Given the description of an element on the screen output the (x, y) to click on. 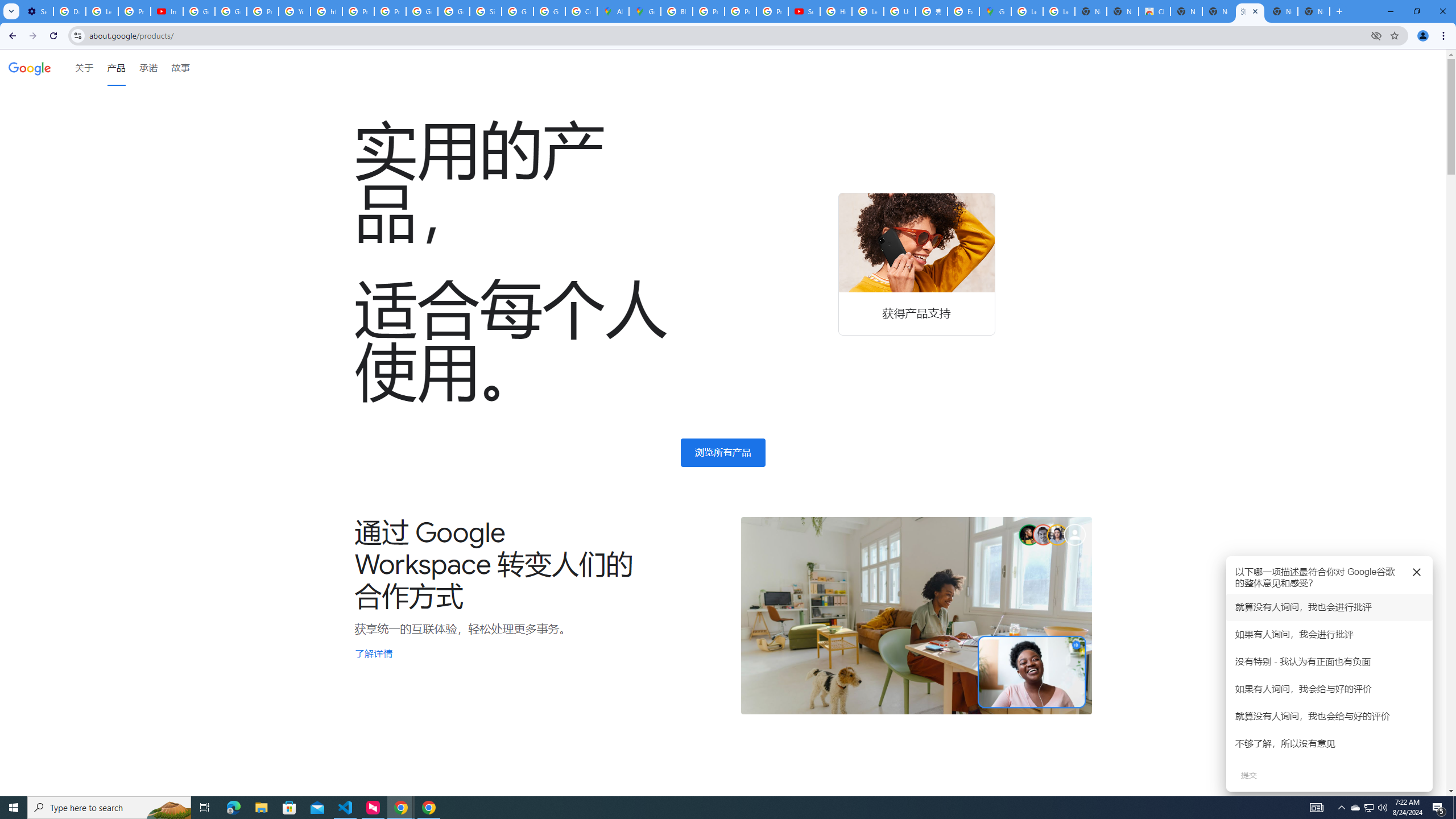
Privacy Help Center - Policies Help (740, 11)
Sign in - Google Accounts (485, 11)
Google Maps (995, 11)
Privacy Help Center - Policies Help (708, 11)
Settings - Customize profile (37, 11)
